Given the description of an element on the screen output the (x, y) to click on. 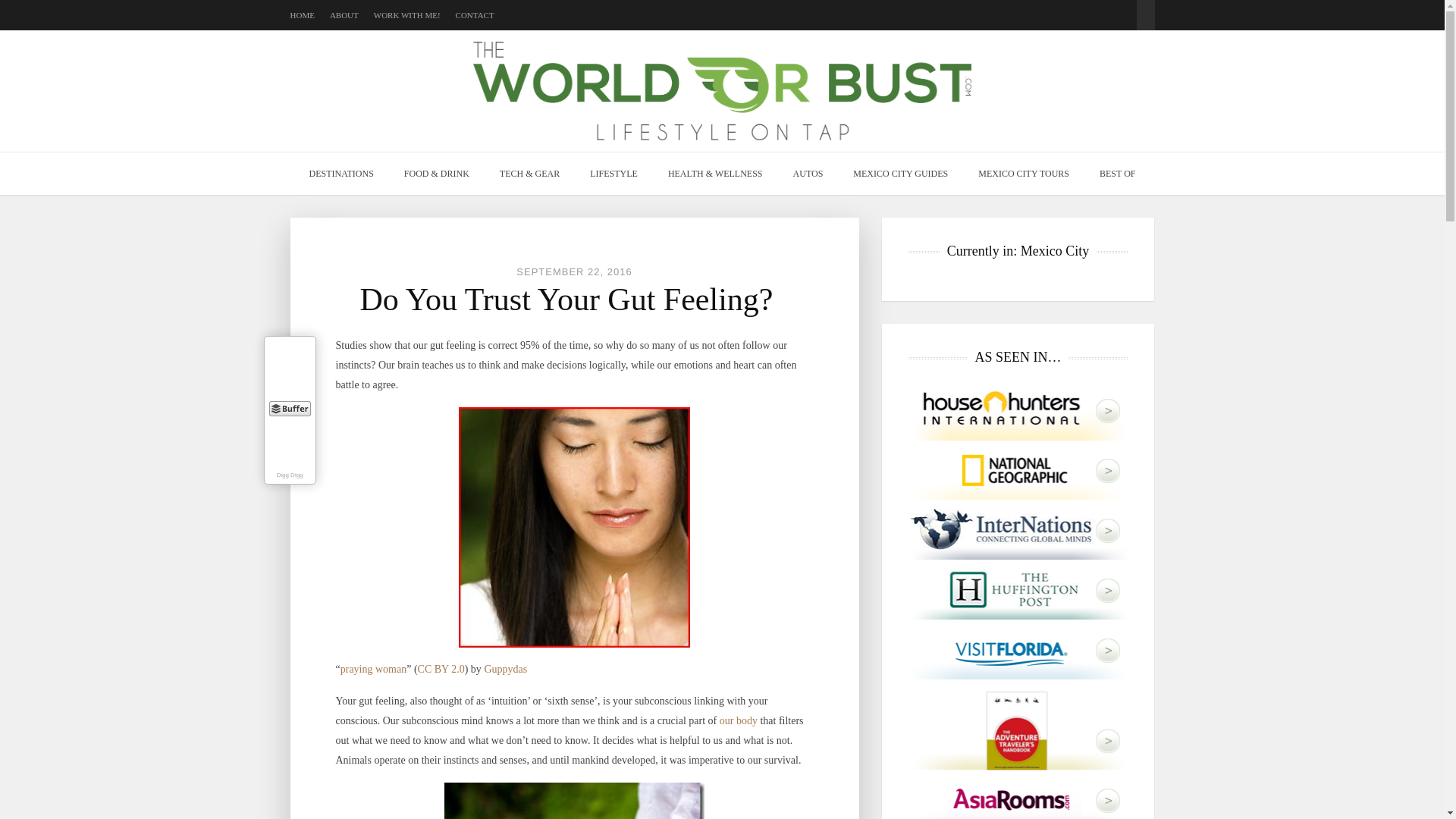
BEST OF (1117, 173)
WORK WITH ME! (407, 15)
AUTOS (807, 173)
LIFESTYLE (613, 173)
CC BY 2.0 (440, 668)
our body (738, 720)
Guppydas (505, 668)
DESTINATIONS (341, 173)
Search (1144, 7)
MEXICO CITY TOURS (1023, 173)
CONTACT (475, 15)
praying woman (373, 668)
MEXICO CITY GUIDES (900, 173)
ABOUT (344, 15)
